Given the description of an element on the screen output the (x, y) to click on. 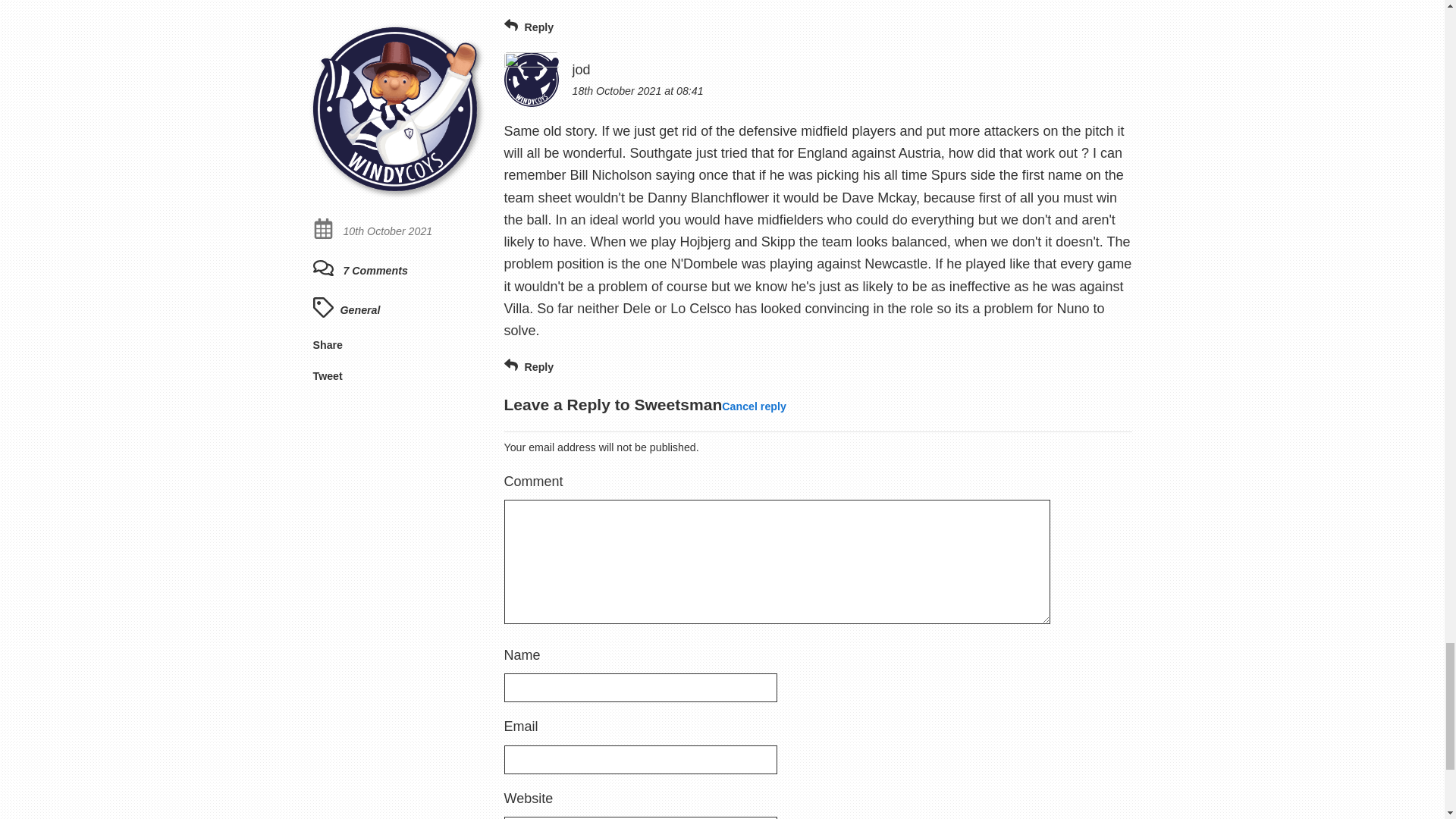
Reply (528, 365)
Reply (528, 26)
Sweetsman (677, 404)
Cancel reply (754, 406)
